Given the description of an element on the screen output the (x, y) to click on. 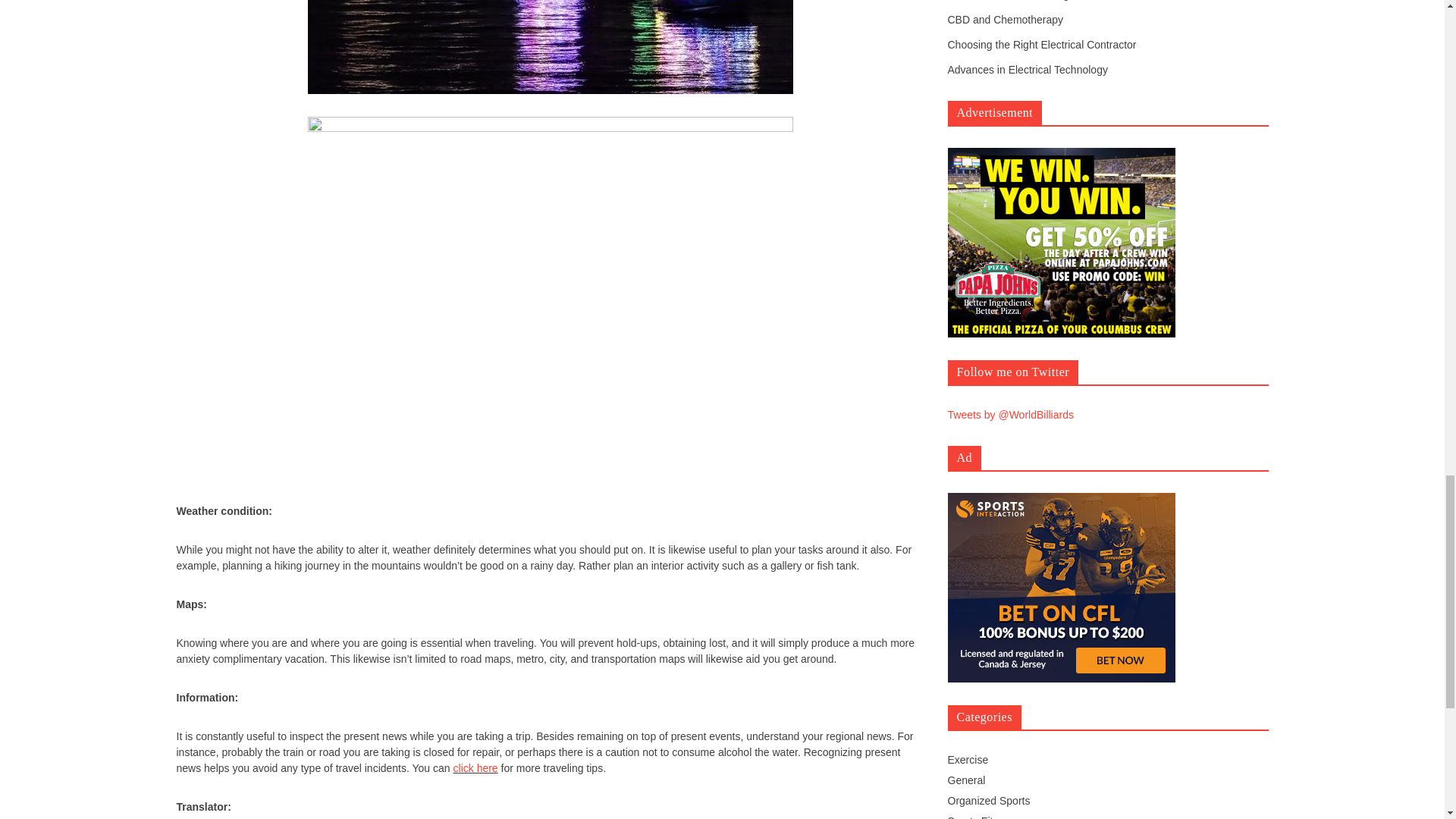
click here (474, 767)
